Given the description of an element on the screen output the (x, y) to click on. 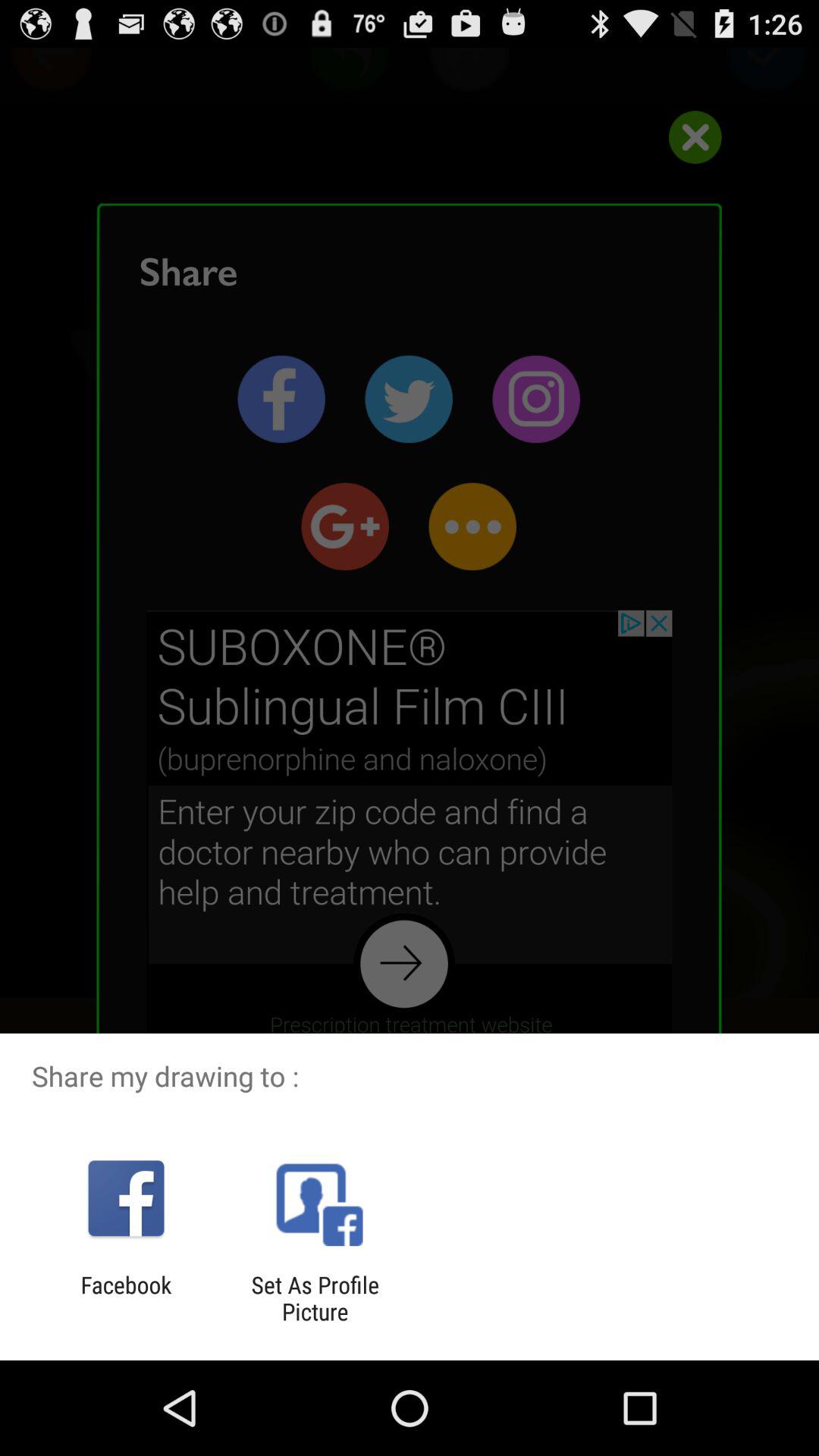
turn off facebook (125, 1298)
